Given the description of an element on the screen output the (x, y) to click on. 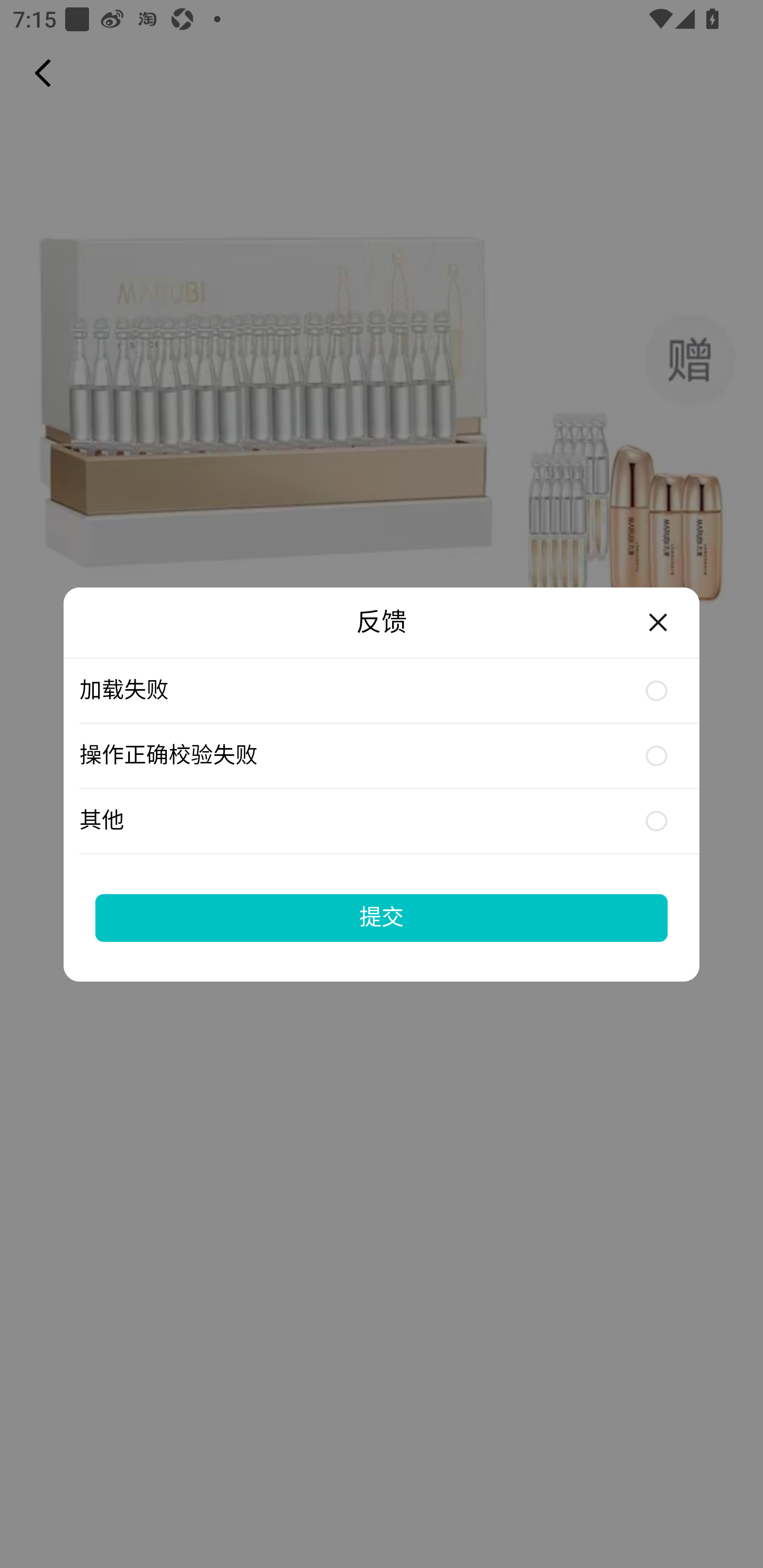
提交 (381, 917)
